Given the description of an element on the screen output the (x, y) to click on. 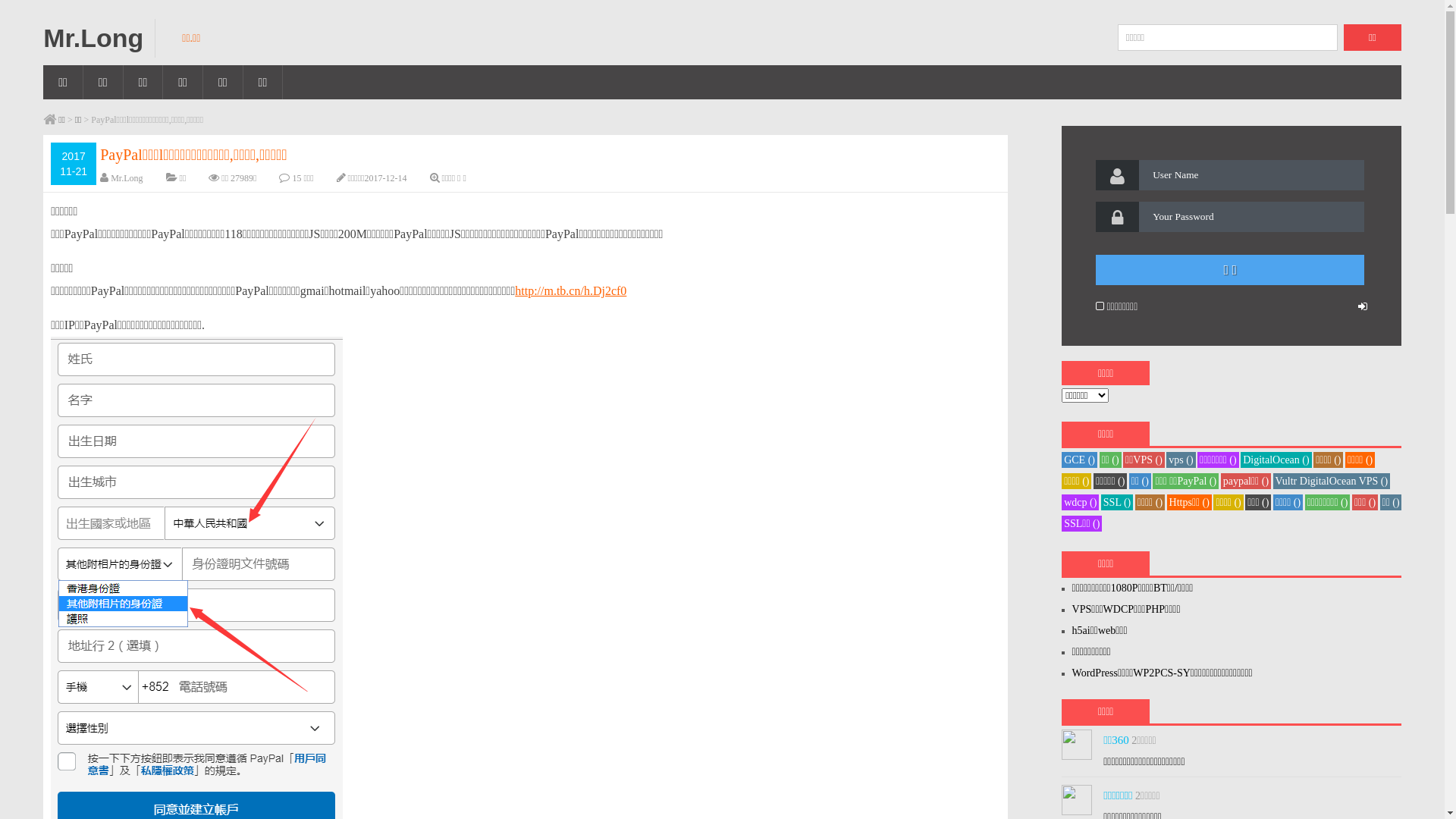
DigitalOcean () Element type: text (1275, 459)
Vultr DigitalOcean VPS () Element type: text (1331, 481)
http://m.tb.cn/h.Dj2cf0 Element type: text (570, 290)
SSL () Element type: text (1116, 502)
Mr.Long Element type: text (104, 37)
vps () Element type: text (1180, 459)
GCE () Element type: text (1079, 459)
Mr.Long Element type: text (126, 177)
wdcp () Element type: text (1079, 502)
